Given the description of an element on the screen output the (x, y) to click on. 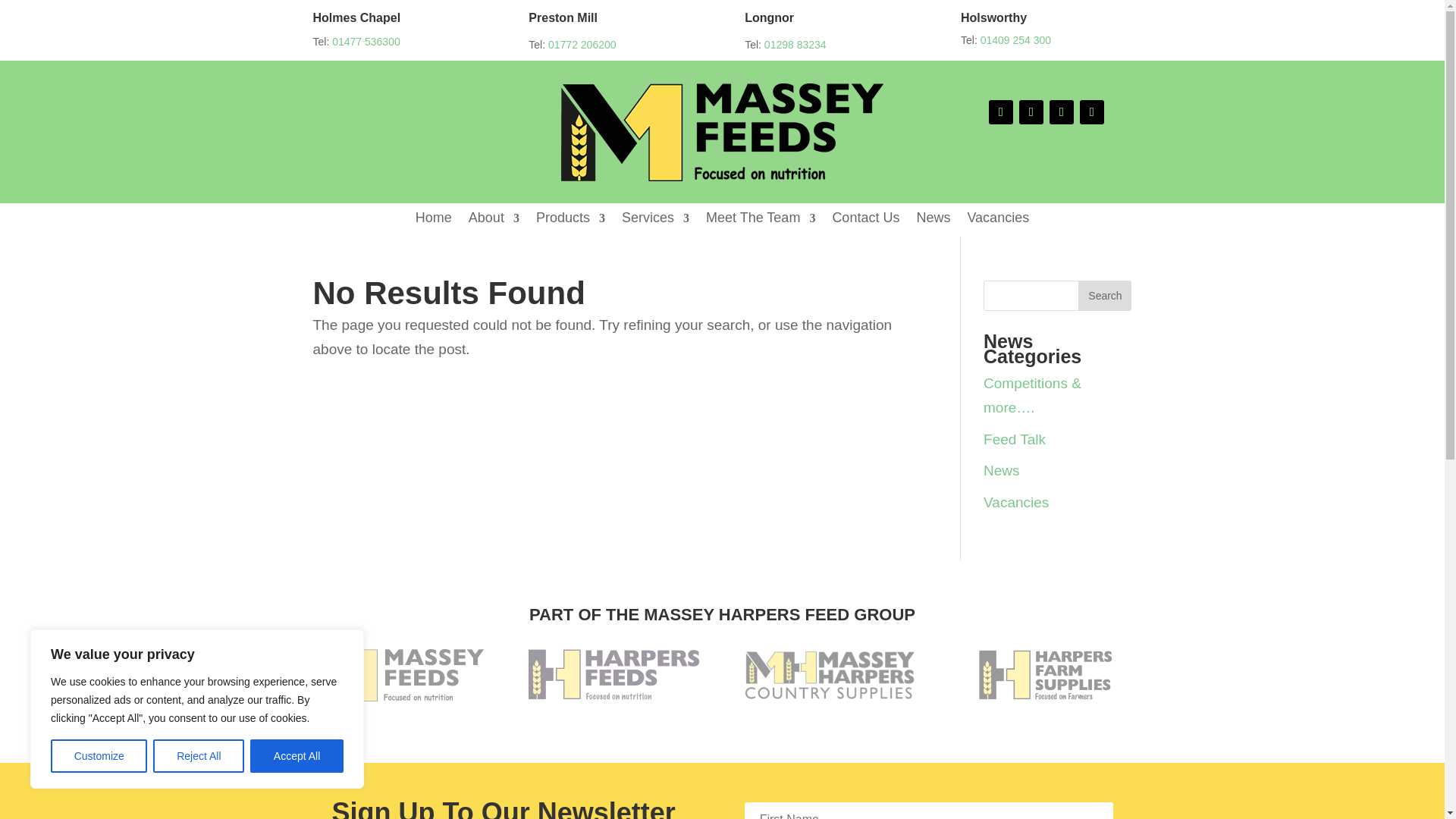
Follow on LinkedIn (1091, 111)
01298 83234 (795, 44)
Customize (98, 756)
MHCS (829, 675)
Follow on Twitter (1031, 111)
massey-logo (721, 131)
Follow on Facebook (1000, 111)
Reject All (198, 756)
01409 254 300 (1015, 39)
01772 206200 (581, 44)
Products (570, 220)
Follow on Instagram (1061, 111)
About (493, 220)
MF (398, 675)
HFS (1045, 675)
